Given the description of an element on the screen output the (x, y) to click on. 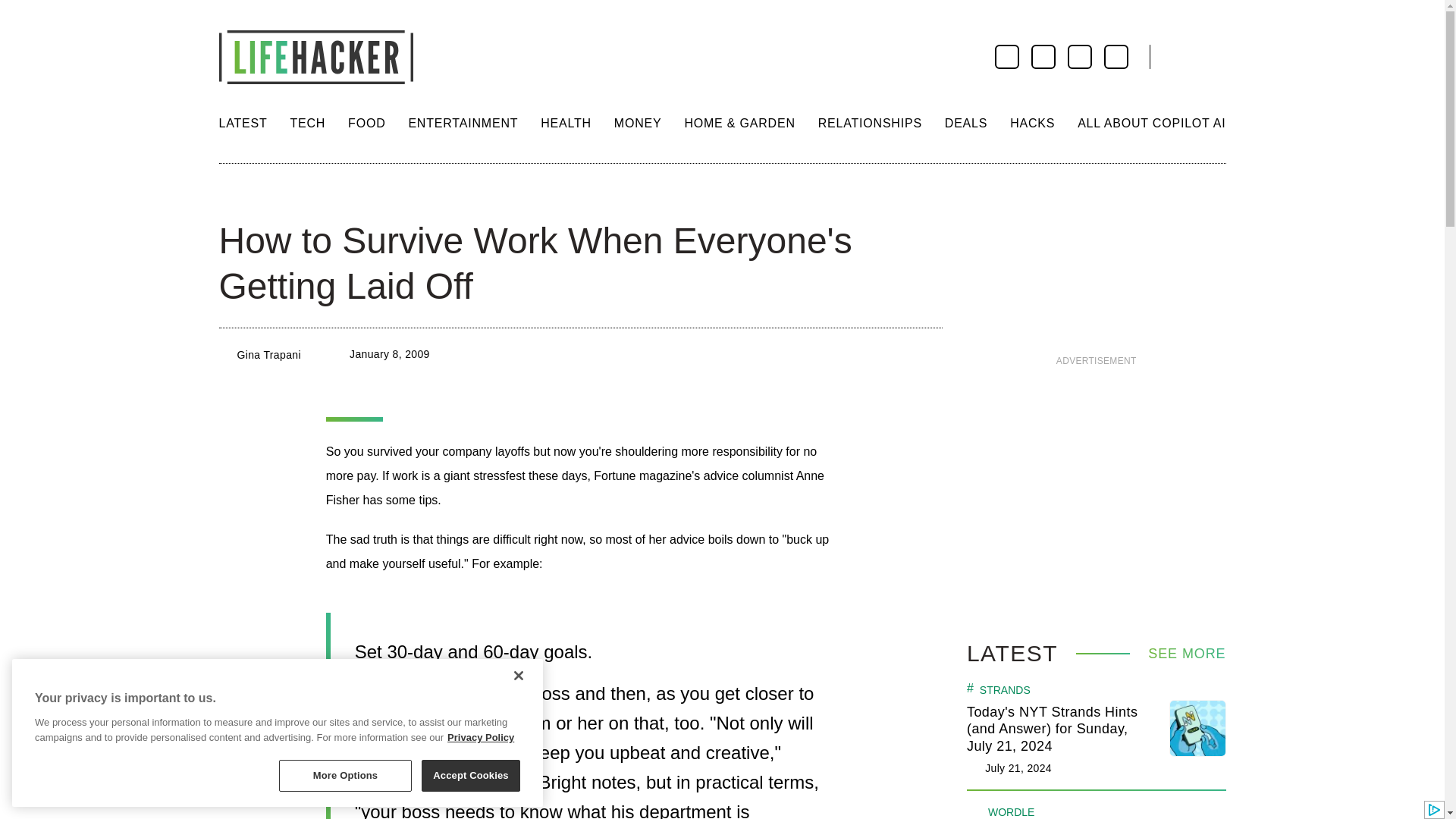
Social Share (232, 193)
HEALTH (565, 123)
LATEST (242, 123)
ENTERTAINMENT (462, 123)
DEALS (965, 123)
TECH (306, 123)
HACKS (1032, 123)
RELATIONSHIPS (869, 123)
FOOD (366, 123)
ALL ABOUT COPILOT AI (1151, 123)
MONEY (638, 123)
